Given the description of an element on the screen output the (x, y) to click on. 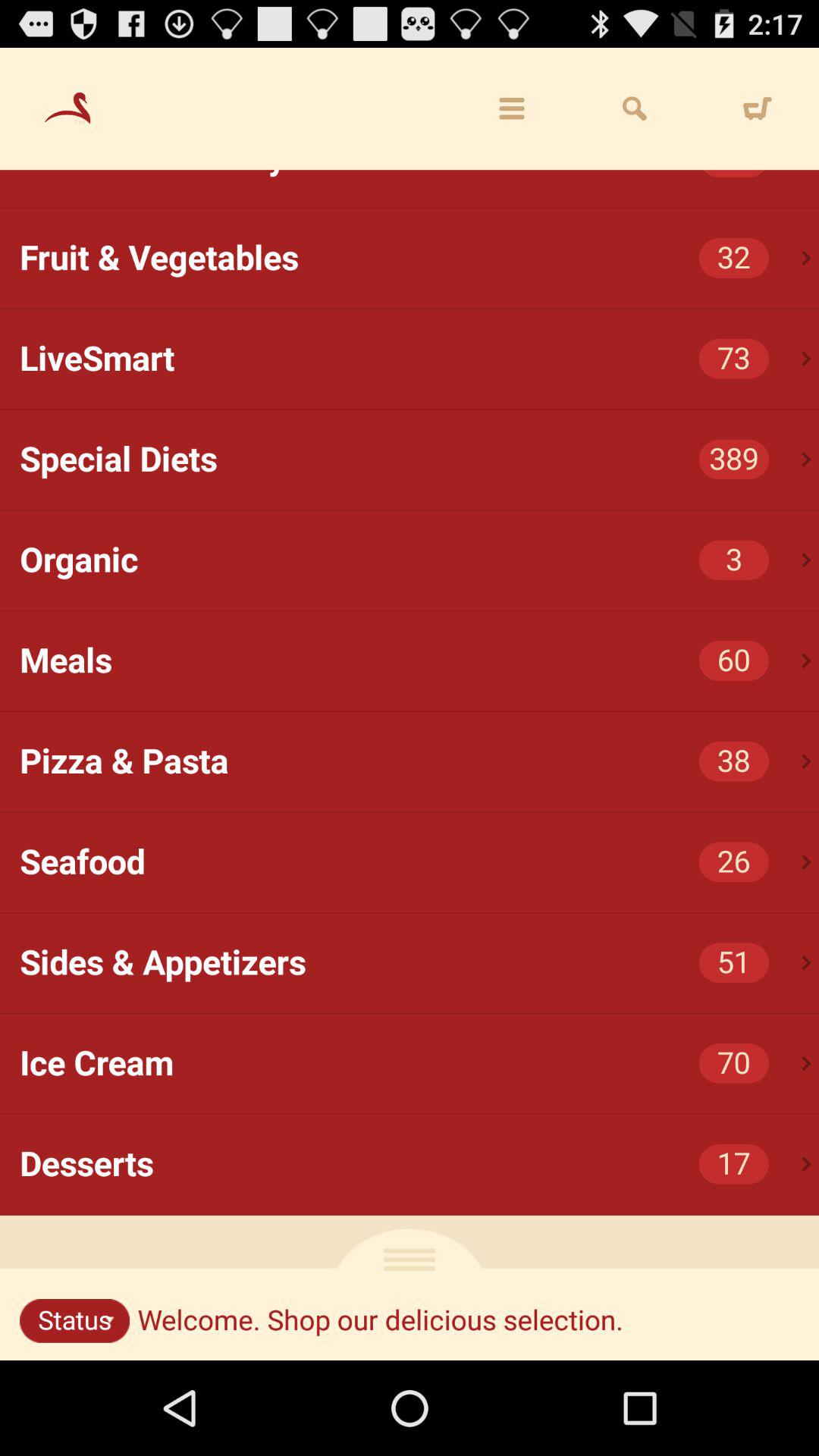
tap the chicken & turkey item (419, 173)
